Given the description of an element on the screen output the (x, y) to click on. 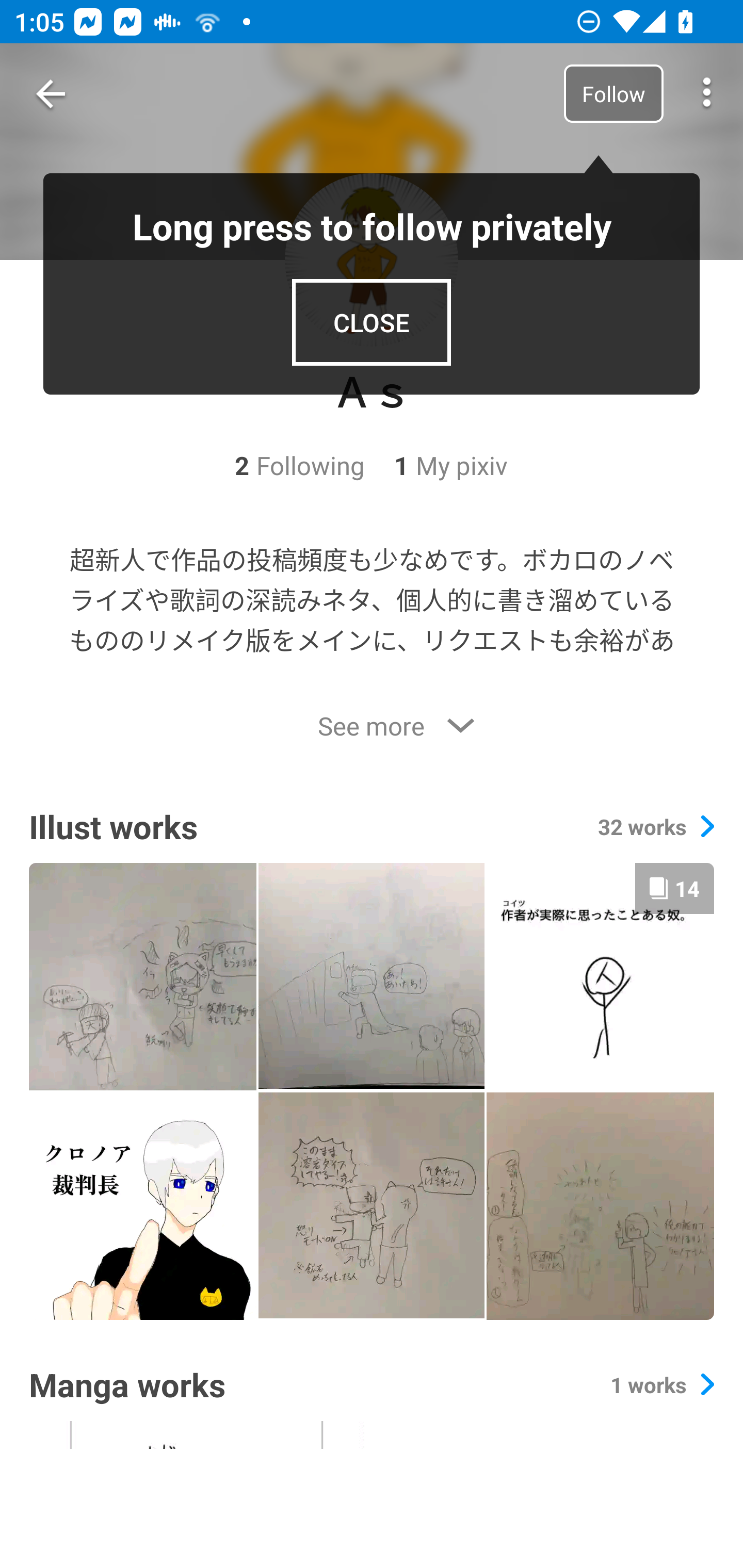
Navigate up (50, 93)
More options (706, 93)
Follow (613, 93)
CLOSE (371, 322)
2 Following (299, 465)
1 My pixiv (436, 465)
See more (371, 725)
32 works (656, 827)
14 (600, 975)
1 works (662, 1384)
